Given the description of an element on the screen output the (x, y) to click on. 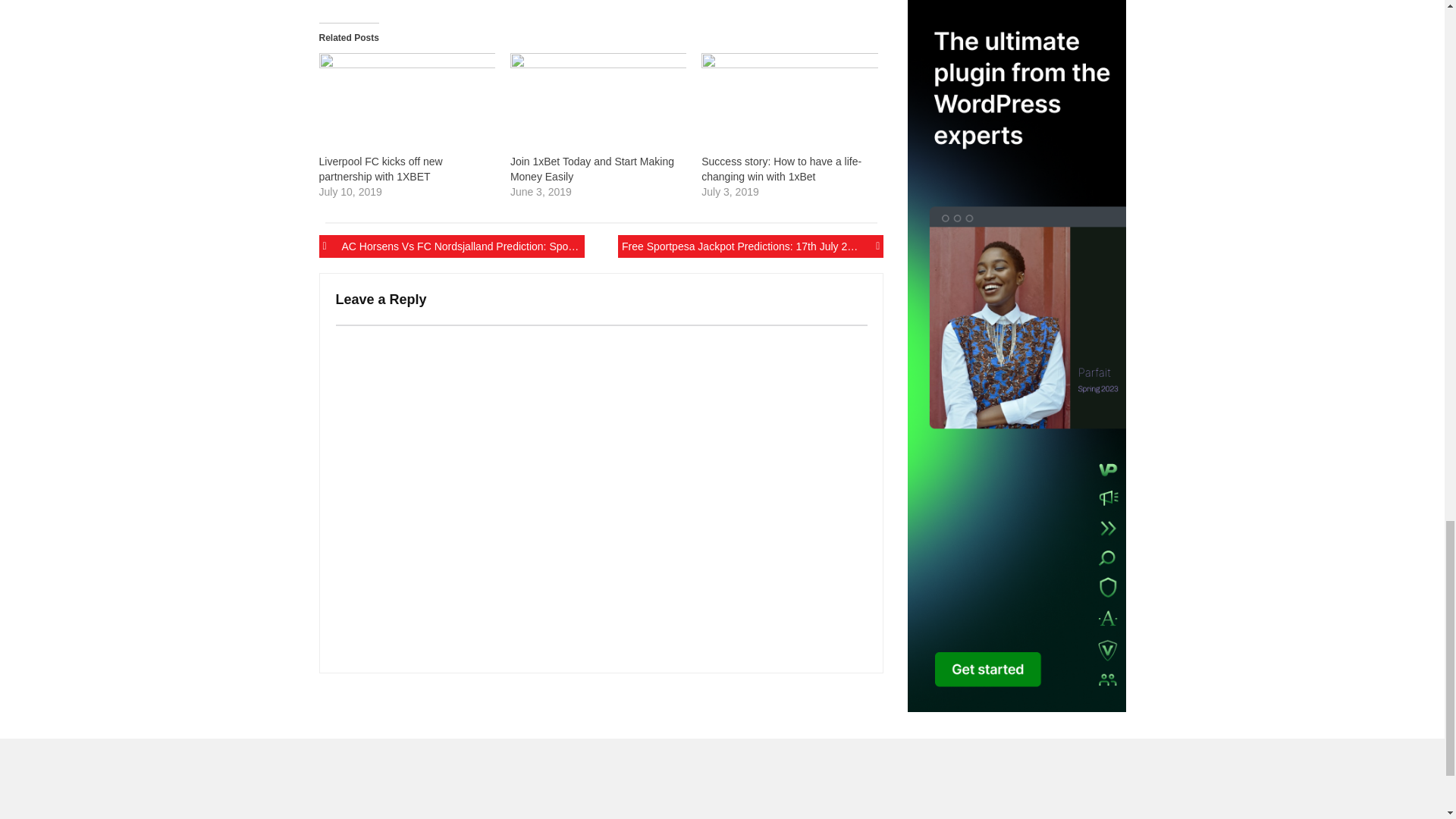
Success story: How to have a life-changing win with 1xBet  (781, 168)
Free Sportpesa Jackpot Predictions: 17th July 2019 (750, 246)
Join 1xBet Today and Start Making Money Easily (598, 103)
Join 1xBet Today and Start Making Money Easily (592, 168)
Liverpool FC kicks off new partnership with 1XBET (406, 103)
Liverpool FC kicks off new partnership with 1XBET (380, 168)
Liverpool FC kicks off new partnership with 1XBET (380, 168)
Join 1xBet Today and Start Making Money Easily (592, 168)
